Given the description of an element on the screen output the (x, y) to click on. 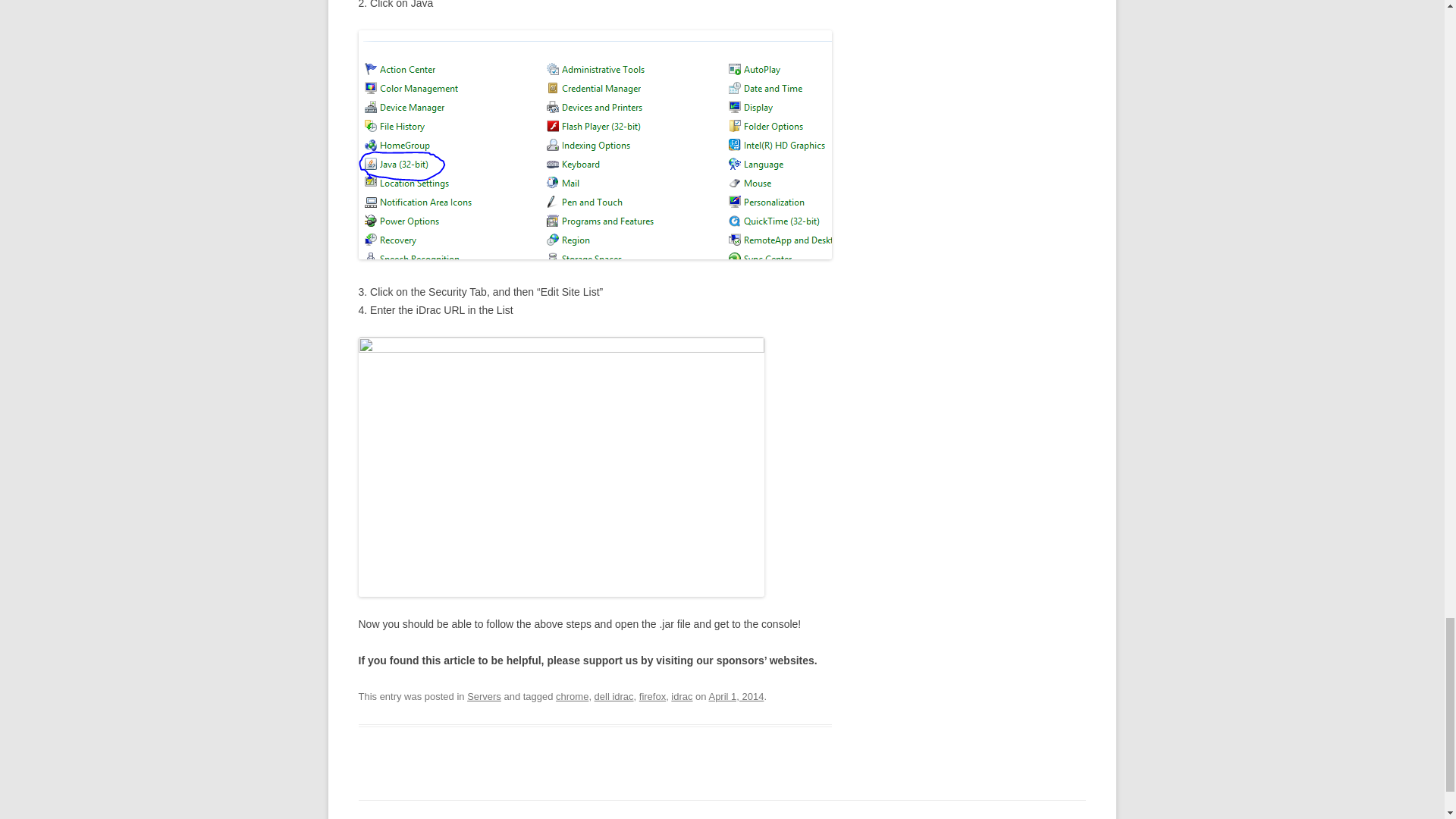
chrome (572, 696)
6:45 pm (734, 696)
April 1, 2014 (734, 696)
firefox (652, 696)
Servers (483, 696)
idrac (682, 696)
dell idrac (613, 696)
